Given the description of an element on the screen output the (x, y) to click on. 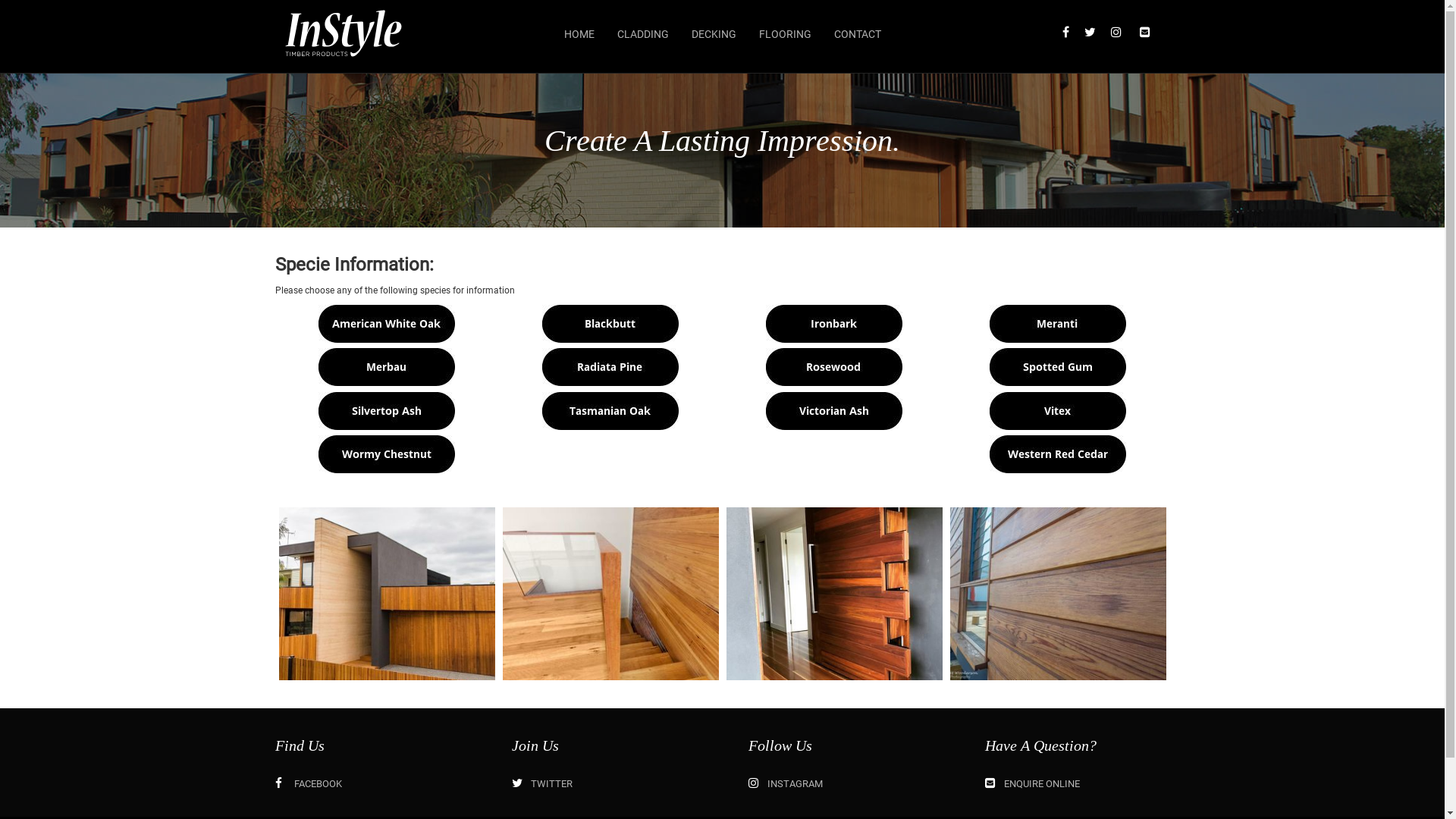
DECKING Element type: text (712, 34)
INSTAGRAM Element type: text (784, 783)
ENQUIRE ONLINE Element type: text (1031, 783)
CLADDING Element type: text (642, 34)
TWITTER Element type: text (541, 783)
FACEBOOK Element type: text (307, 783)
CONTACT Element type: text (856, 34)
FLOORING Element type: text (784, 34)
HOME Element type: text (578, 34)
